Given the description of an element on the screen output the (x, y) to click on. 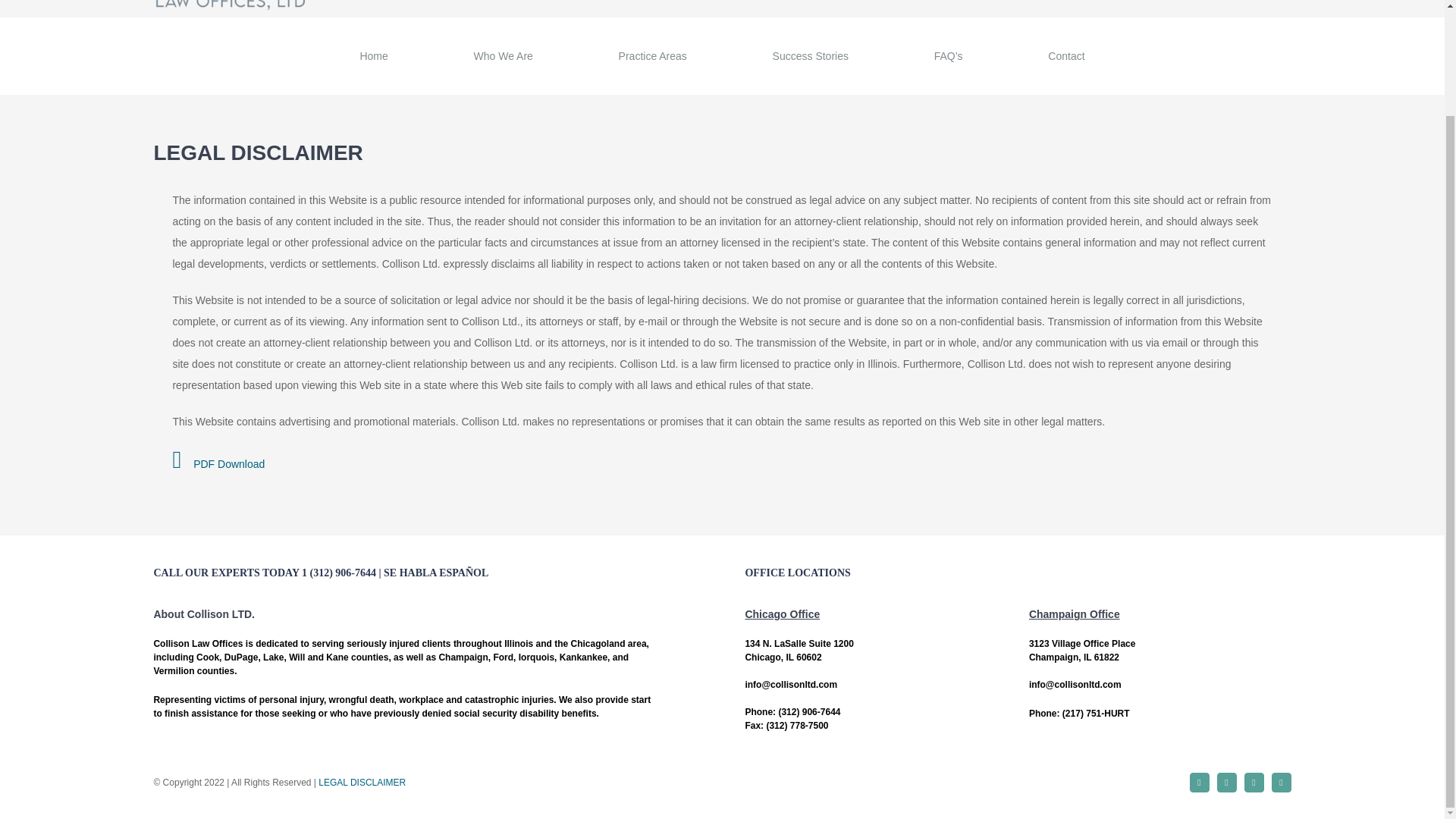
Who We Are (502, 55)
LEGAL DISCLAIMER (362, 782)
Contact (1066, 55)
Success Stories (809, 55)
PDF Download (217, 463)
Practice Areas (652, 55)
Home (373, 55)
